Given the description of an element on the screen output the (x, y) to click on. 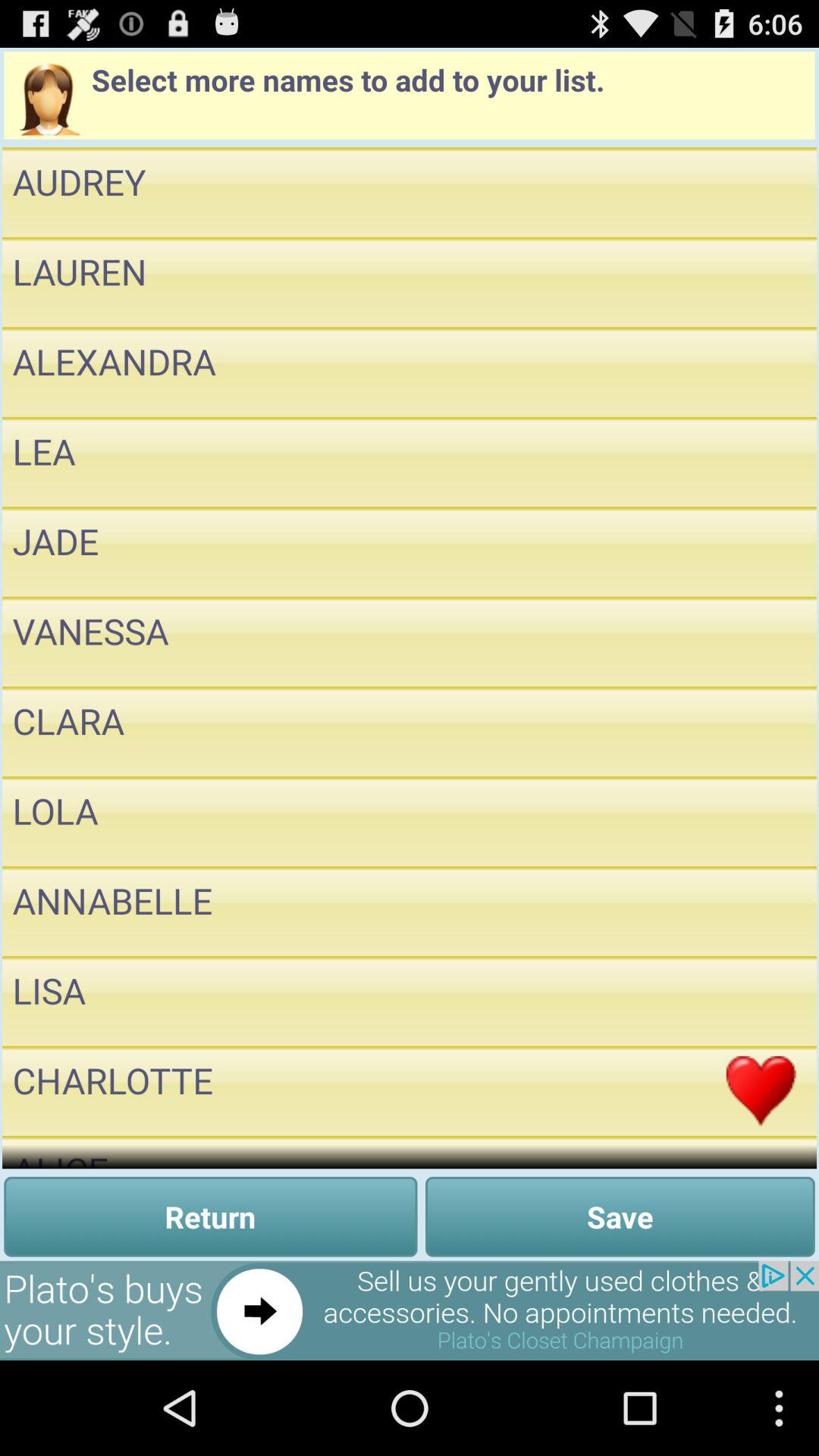
red heart in charlotte option (761, 1091)
